Given the description of an element on the screen output the (x, y) to click on. 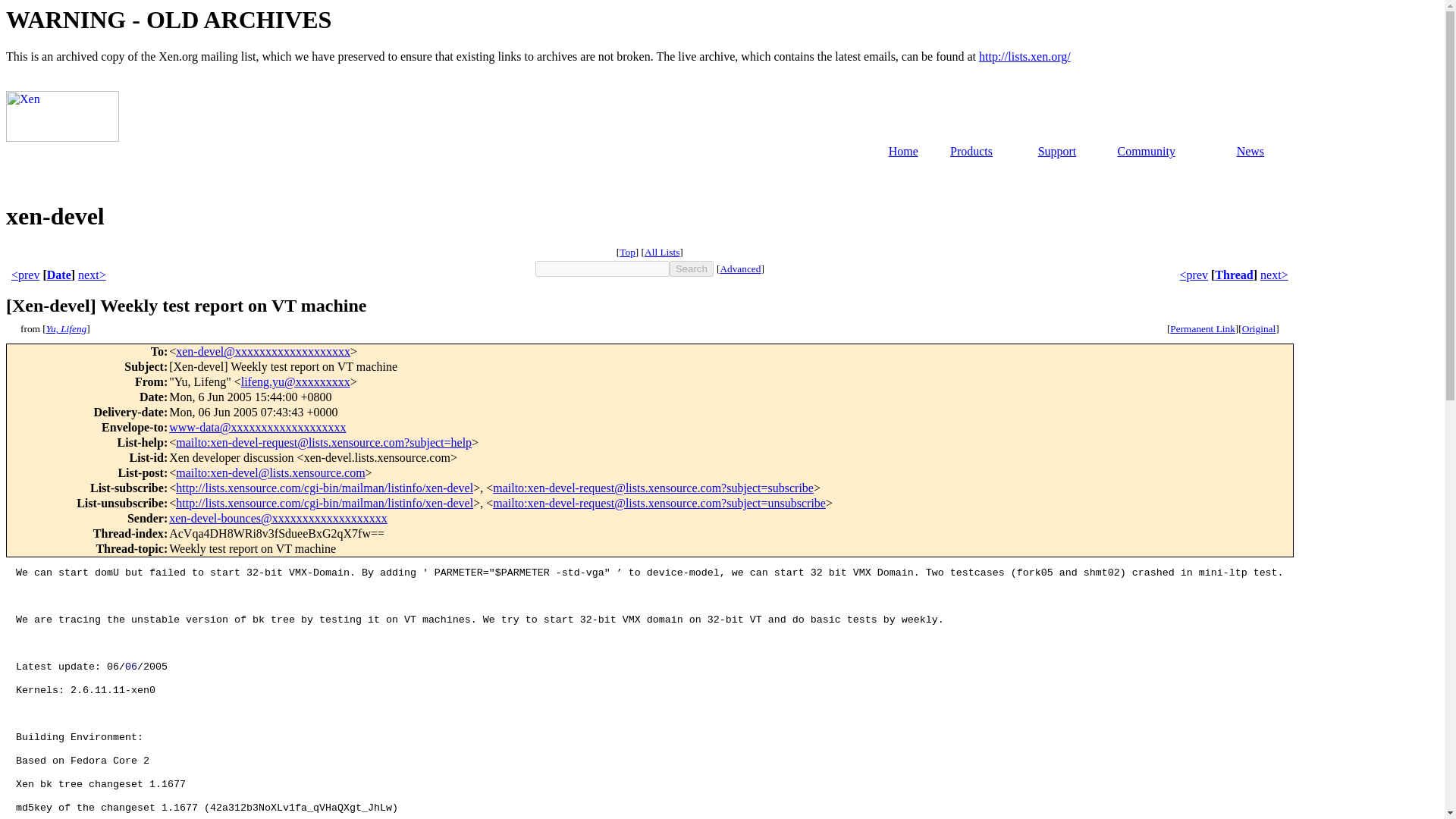
Home (903, 151)
Search (691, 268)
Yu, Lifeng (66, 328)
Original (1258, 328)
News (1249, 151)
Top (627, 251)
Advanced (739, 268)
Date (58, 274)
Thread (1233, 274)
All Lists (662, 251)
Permanent Link (1202, 328)
Community (1145, 151)
Search (691, 268)
Products (971, 151)
Support (1057, 151)
